Given the description of an element on the screen output the (x, y) to click on. 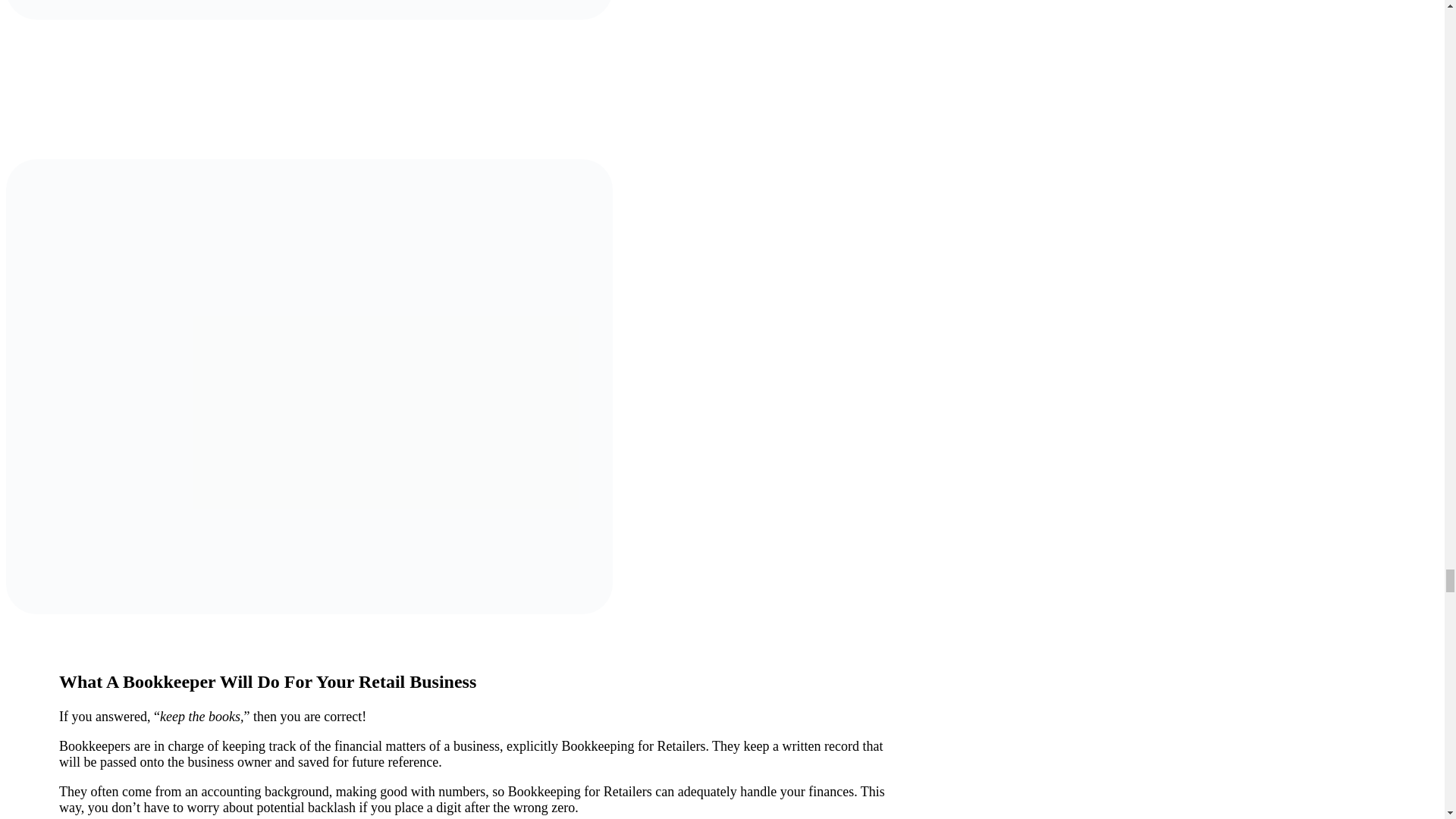
Smiling Black woman sitting at table with laptop in cafe (308, 9)
